Given the description of an element on the screen output the (x, y) to click on. 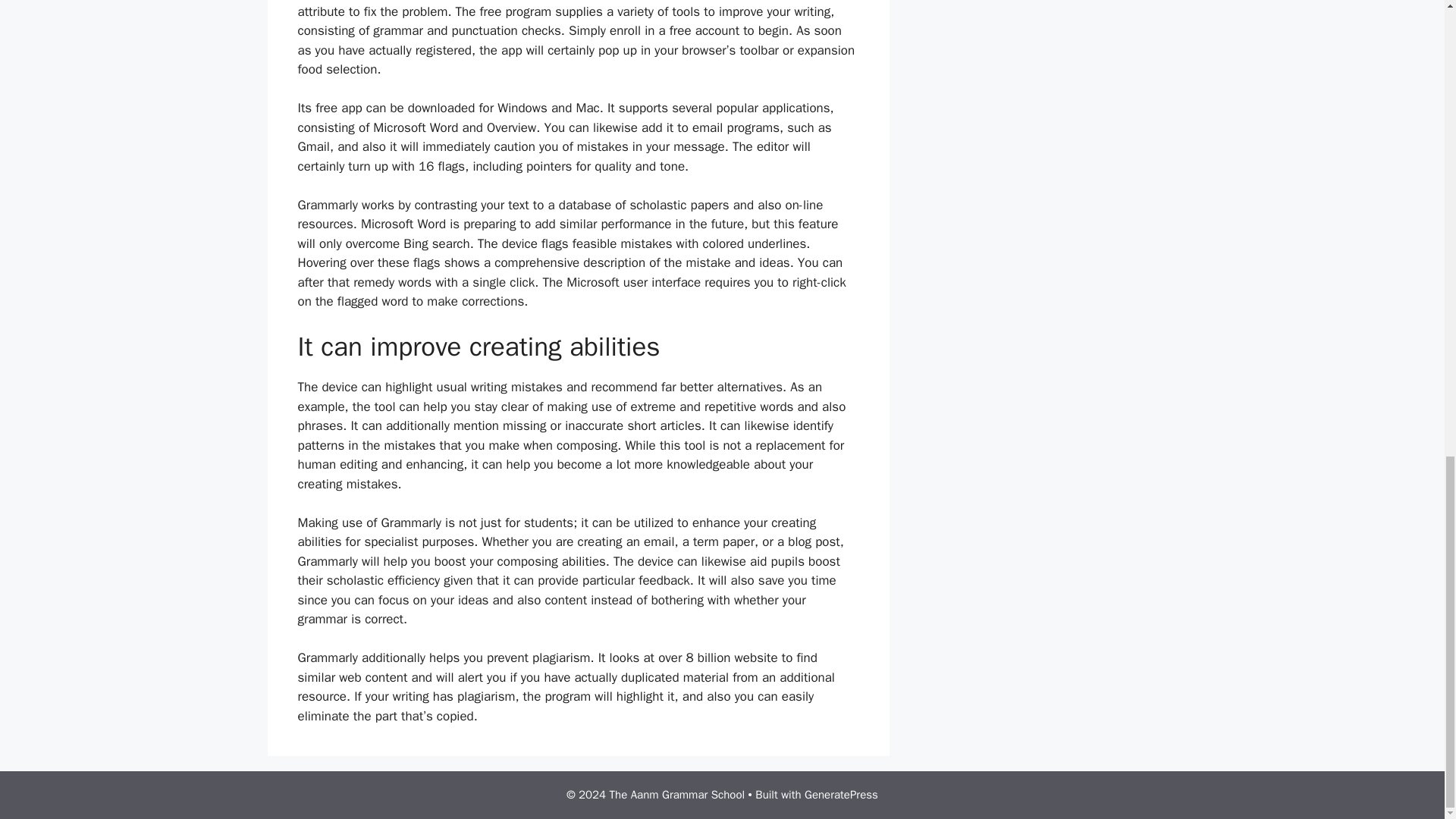
GeneratePress (841, 794)
